Given the description of an element on the screen output the (x, y) to click on. 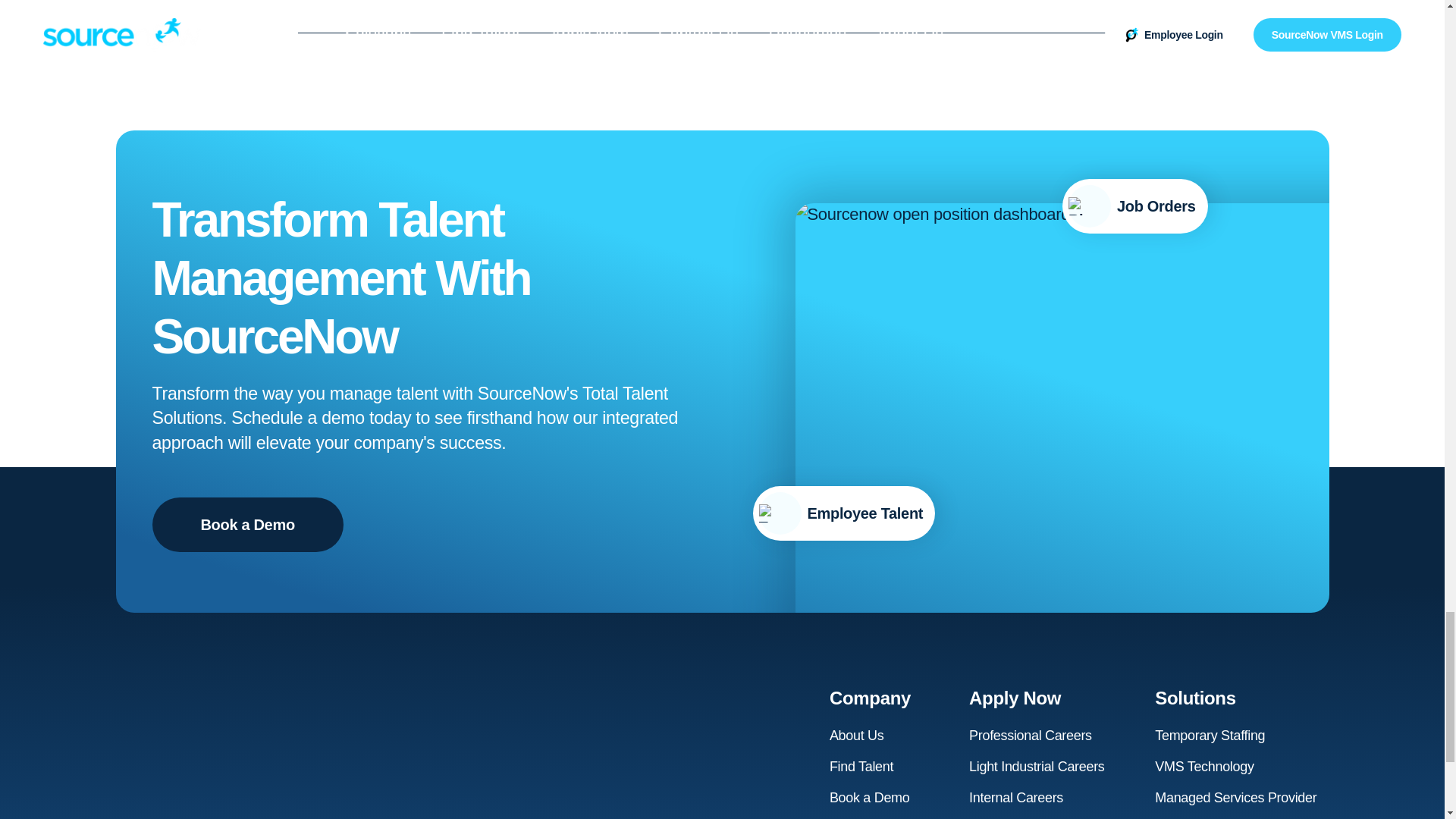
Contact Us (862, 816)
Find Talent (861, 766)
About Us (856, 735)
Book a Demo (246, 524)
Book a Demo (869, 798)
